Given the description of an element on the screen output the (x, y) to click on. 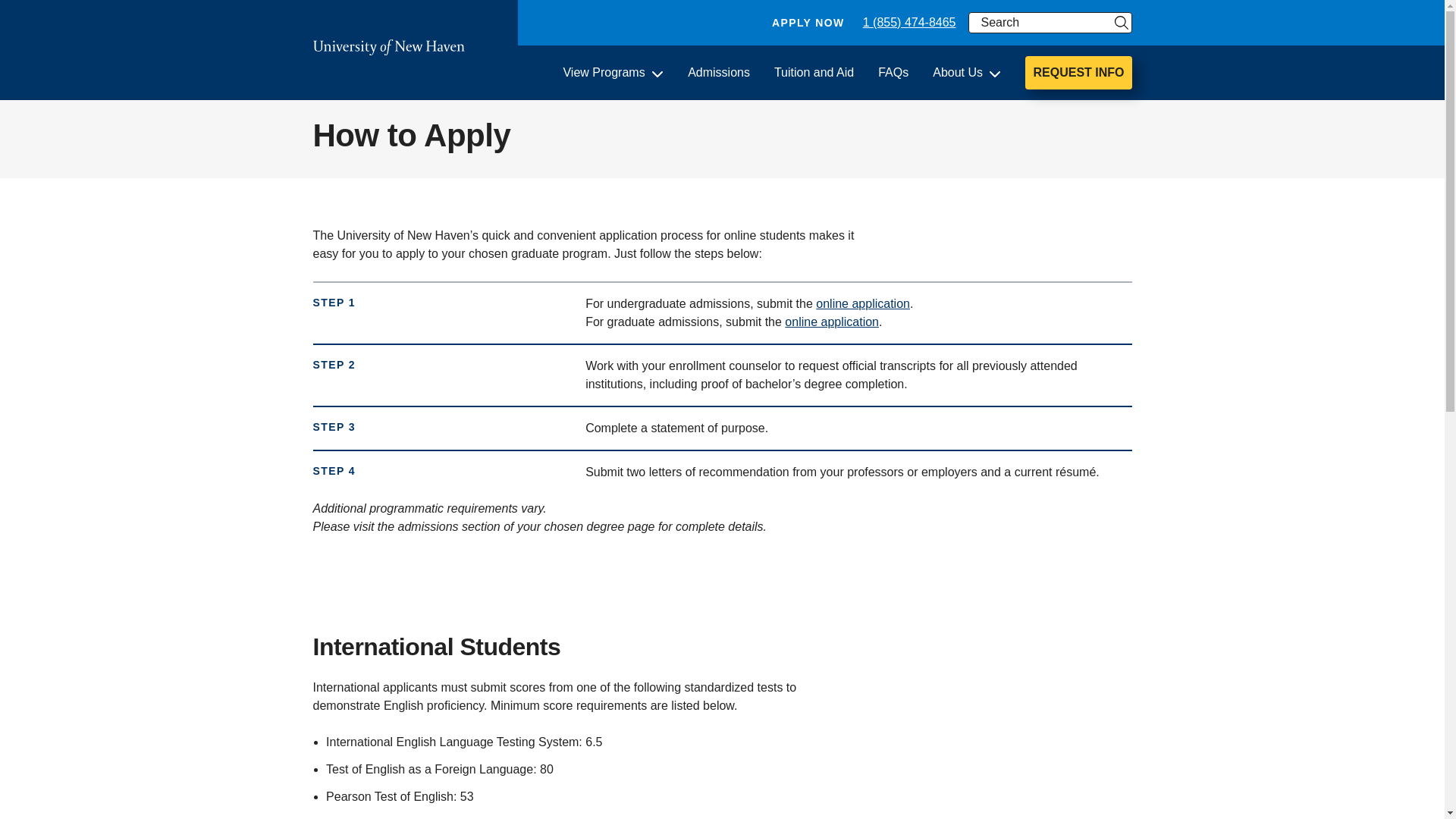
submit search (1121, 22)
submit search (1121, 22)
online application (831, 321)
APPLY NOW (807, 23)
REQUEST INFO (1078, 72)
View Programs (612, 72)
Tuition and Aid (813, 72)
Admissions (718, 72)
About Us (967, 72)
online application (862, 303)
